Given the description of an element on the screen output the (x, y) to click on. 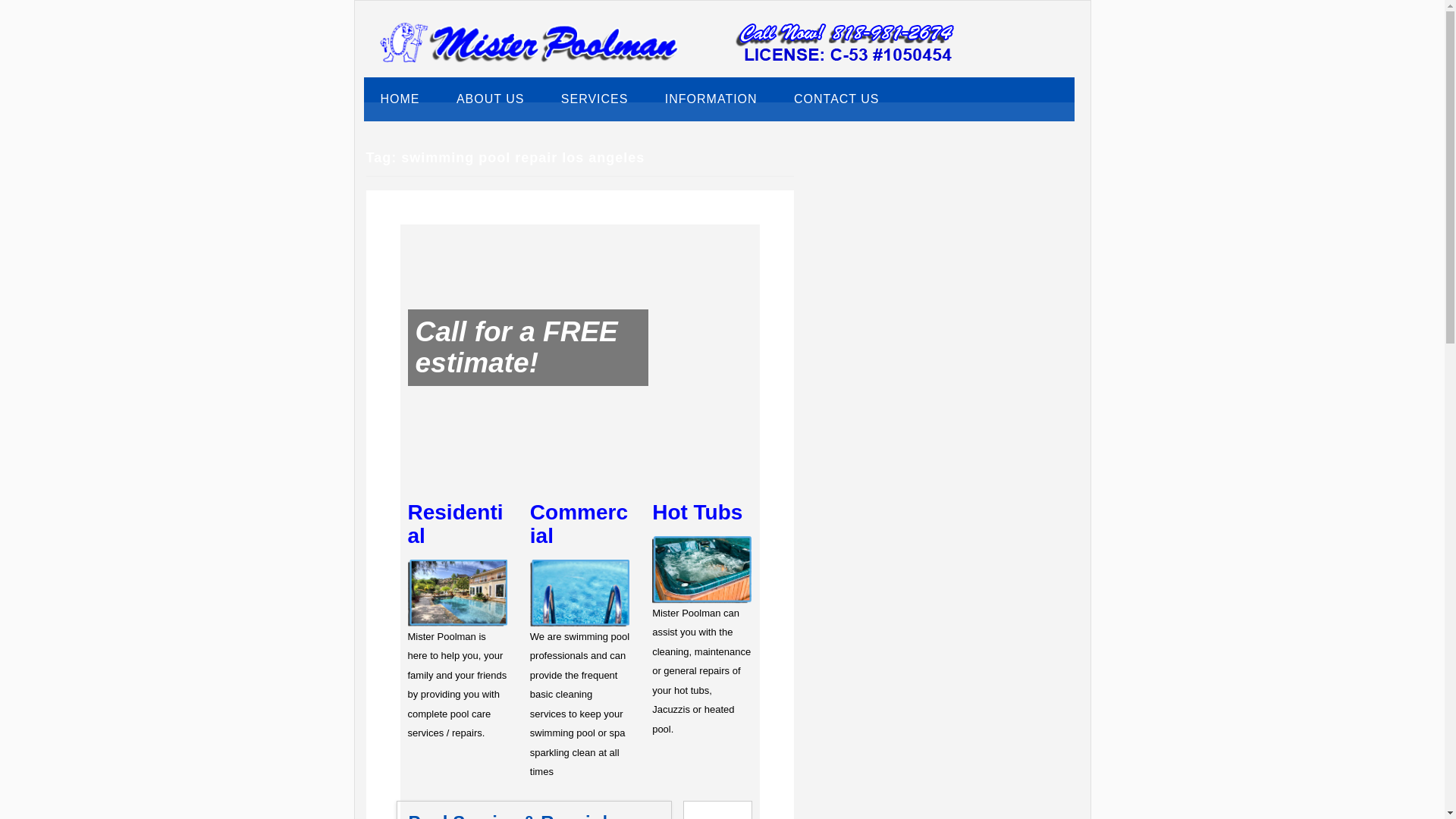
commercial-featured-photo (578, 593)
hot-tub-featured-photo (701, 569)
HOME (400, 98)
SERVICES (594, 98)
ABOUT US (490, 98)
Misterpoolman (529, 59)
INFORMATION (710, 98)
CONTACT US (836, 98)
resiential-feature-photo (456, 593)
